Given the description of an element on the screen output the (x, y) to click on. 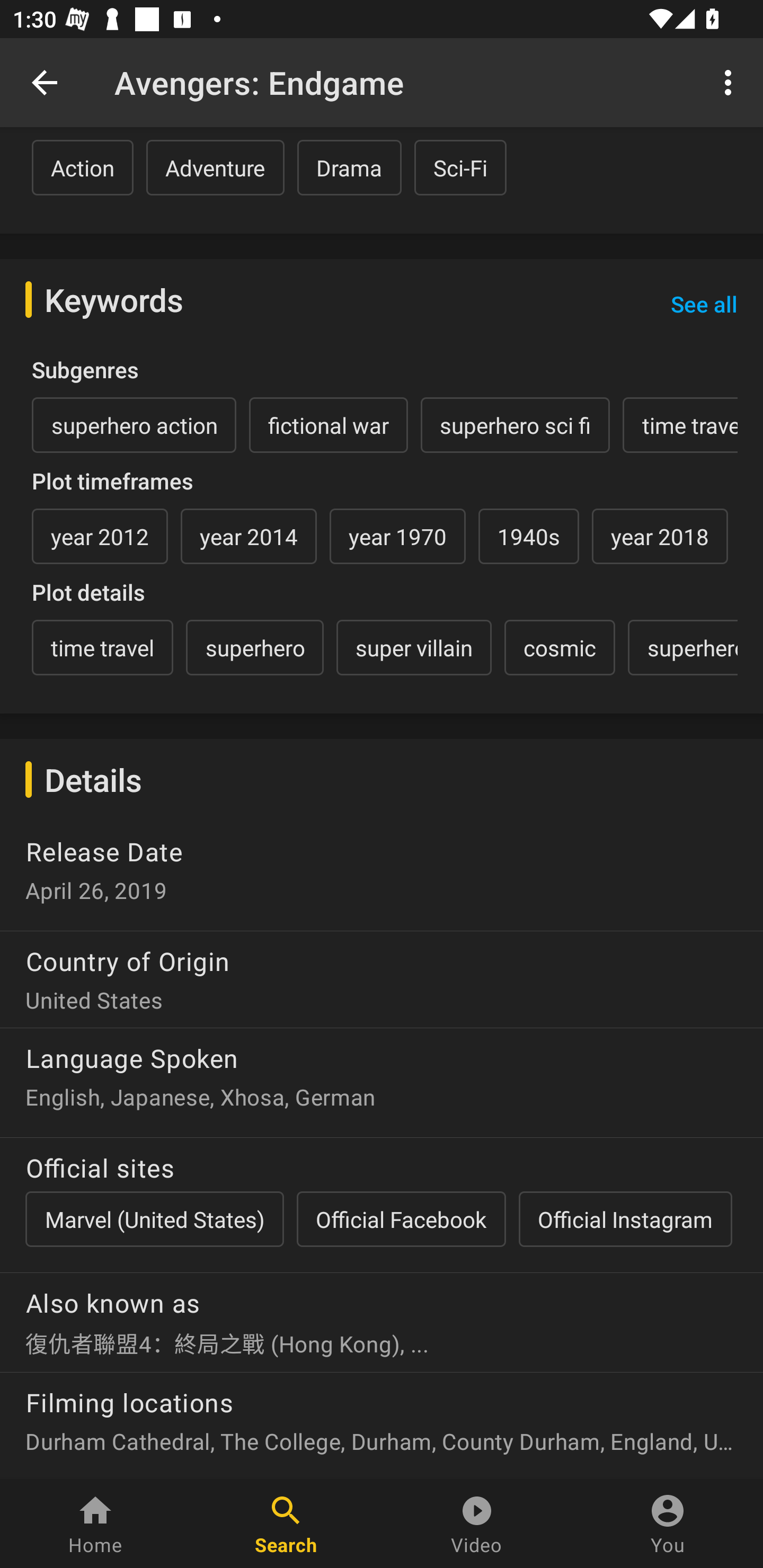
More options (731, 81)
Action (82, 167)
Adventure (215, 167)
Drama (349, 167)
Sci-Fi (460, 167)
See all See all Keywords (703, 303)
superhero action (134, 424)
fictional war (328, 424)
superhero sci fi (514, 424)
time travel sci fi (679, 424)
year 2012 (99, 536)
year 2014 (248, 536)
year 1970 (397, 536)
1940s (528, 536)
year 2018 (659, 536)
time travel (102, 647)
superhero (254, 647)
super villain (413, 647)
cosmic (559, 647)
superhero team (682, 647)
Release Date April 26, 2019 (381, 875)
Country of Origin United States (381, 972)
Language Spoken English, Japanese, Xhosa, German (381, 1075)
Marvel (United States) (154, 1218)
Official Facebook (400, 1218)
Official Instagram (625, 1218)
Also known as 復仇者聯盟4：終局之戰 (Hong Kong), ... (381, 1315)
Home (95, 1523)
Video (476, 1523)
You (667, 1523)
